Given the description of an element on the screen output the (x, y) to click on. 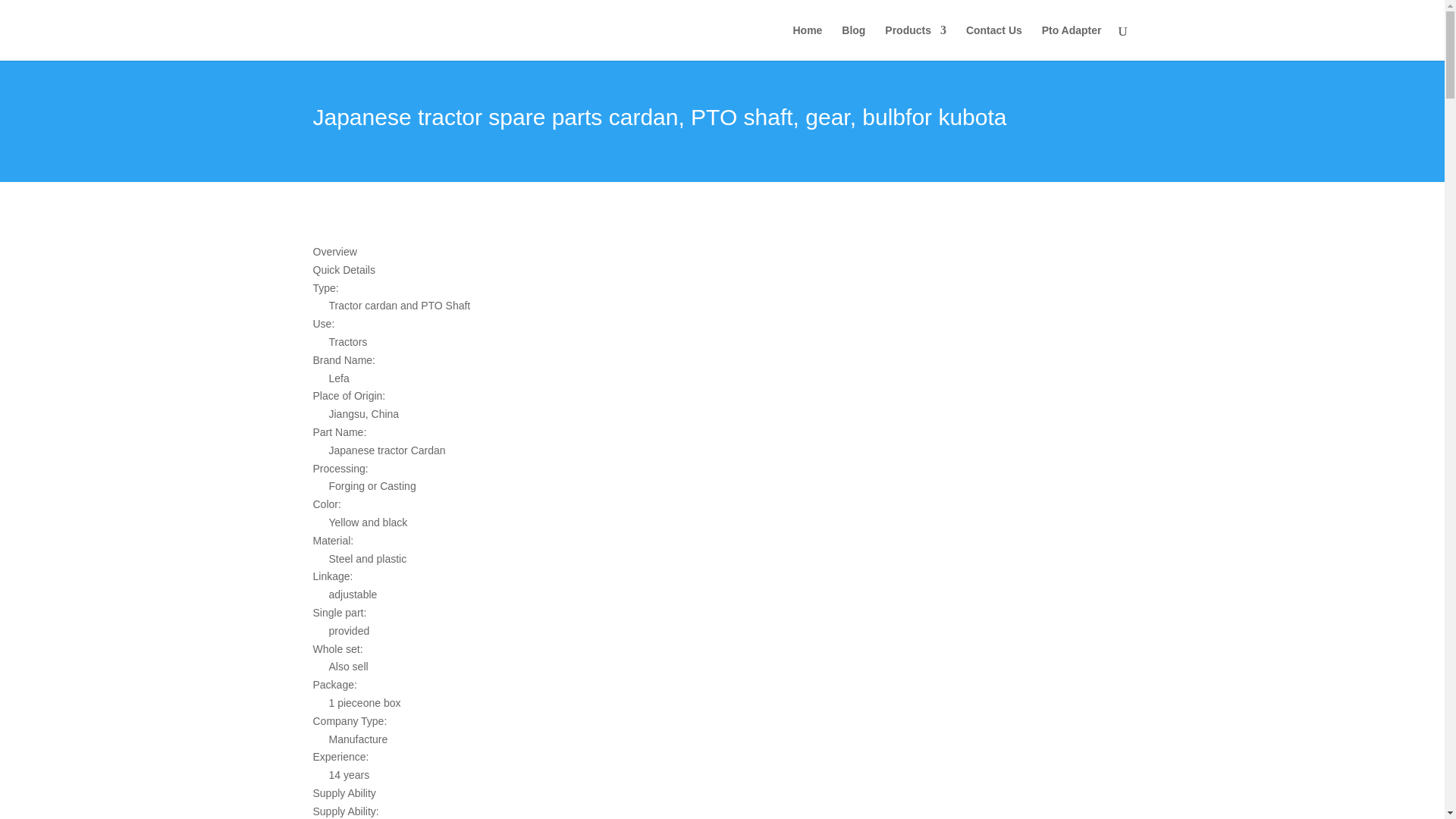
Products (915, 42)
Contact Us (994, 42)
Pto Adapter (1072, 42)
